Given the description of an element on the screen output the (x, y) to click on. 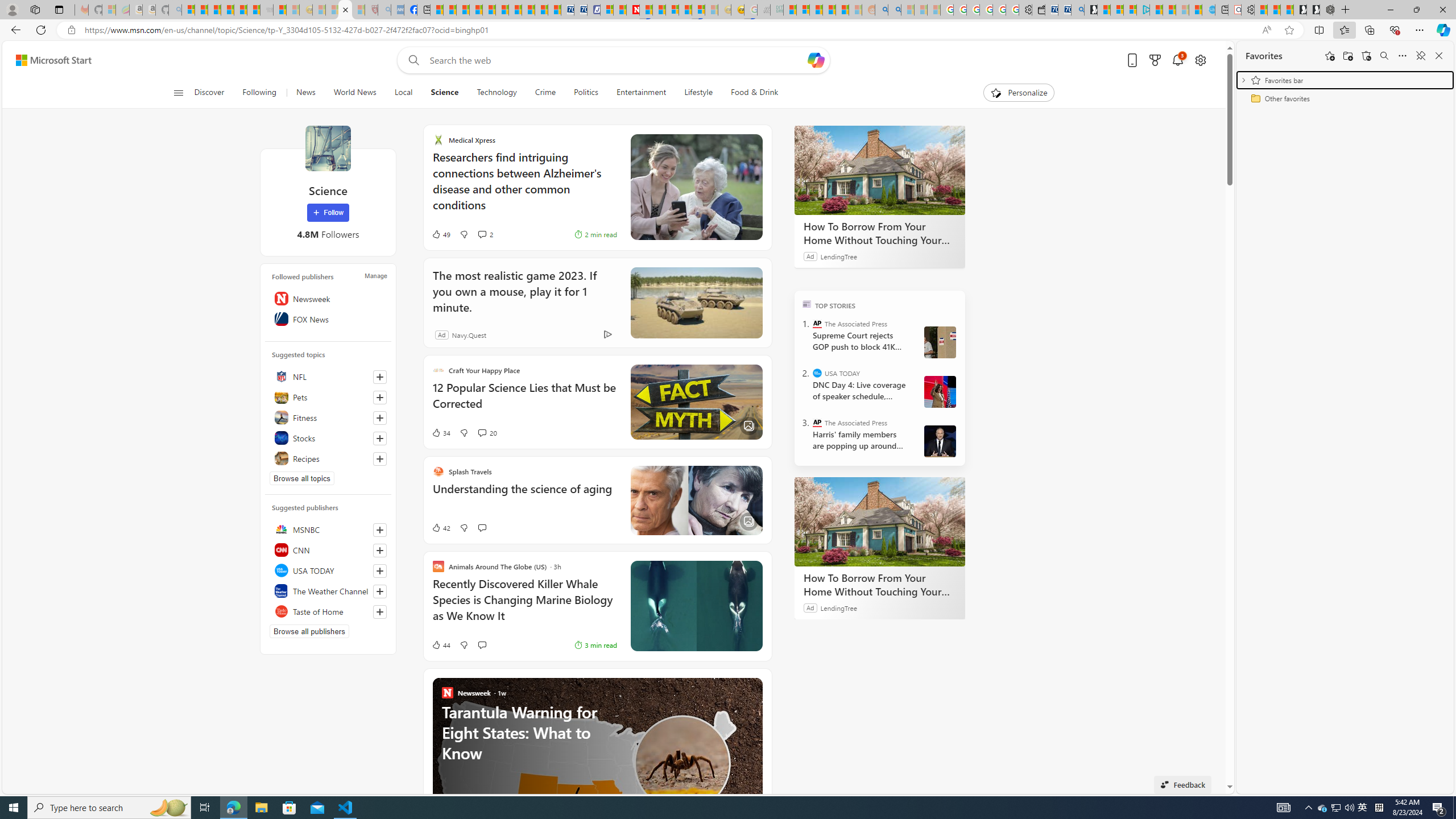
Utah sues federal government - Search (894, 9)
list of asthma inhalers uk - Search - Sleeping (384, 9)
Recipes - MSN - Sleeping (318, 9)
Home | Sky Blue Bikes - Sky Blue Bikes (1208, 9)
Play Free Online Games | Games from Microsoft Start (1312, 9)
